Given the description of an element on the screen output the (x, y) to click on. 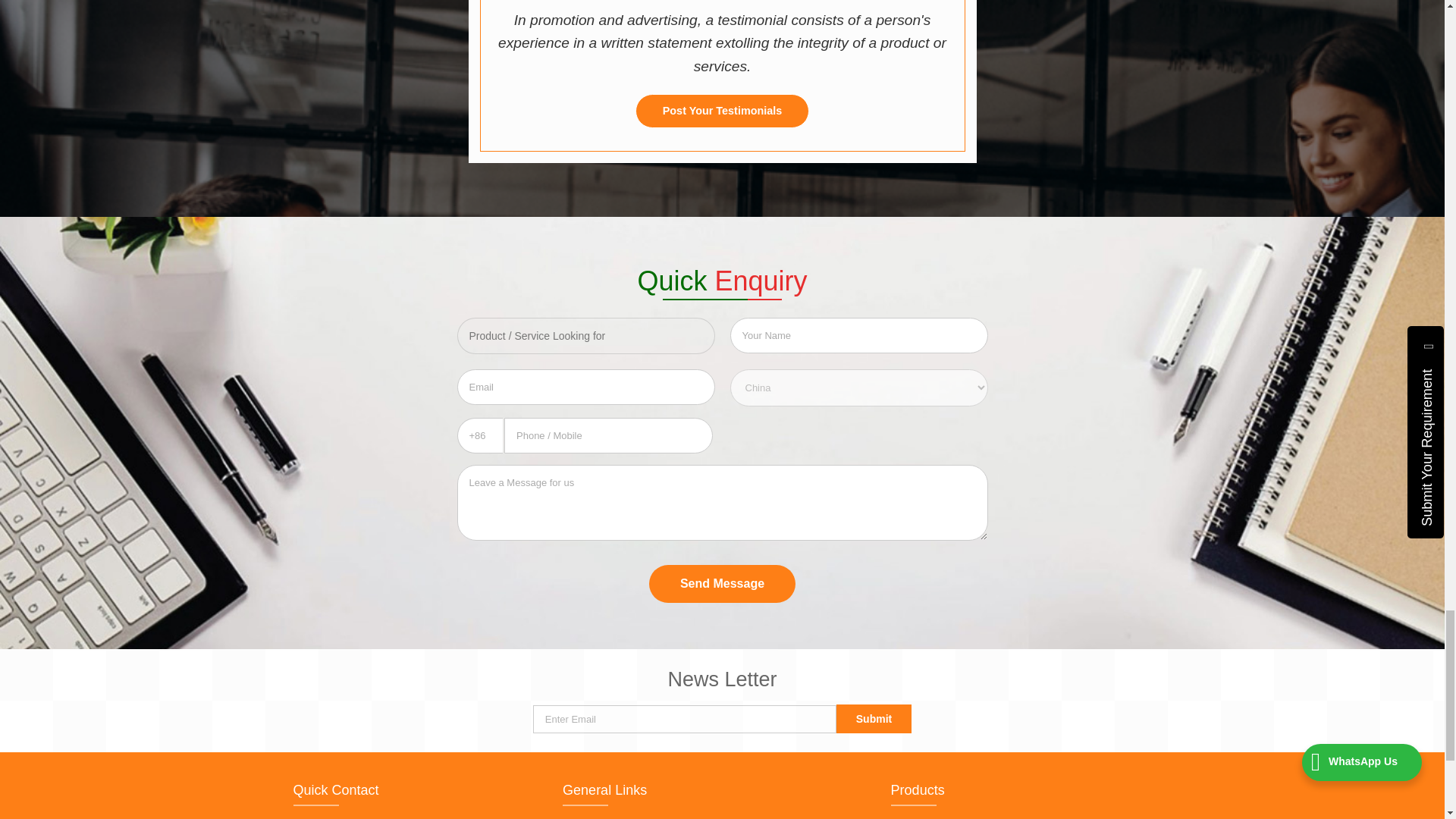
Enter Email (683, 719)
Submit (873, 718)
Send Message (721, 583)
